Given the description of an element on the screen output the (x, y) to click on. 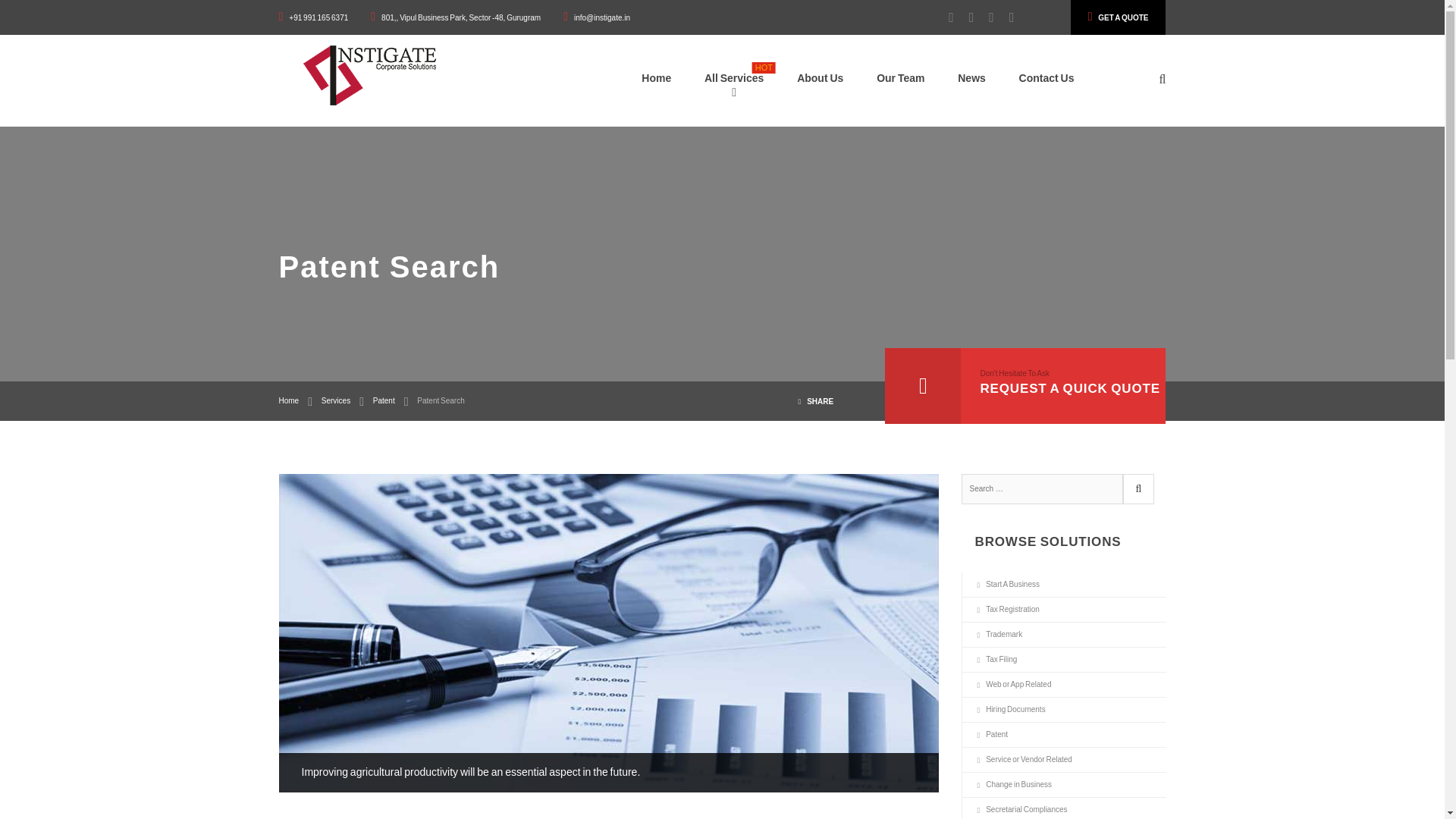
Instagram (984, 17)
Search (1138, 489)
Search (1138, 489)
GET A QUOTE (1118, 17)
Twitter (963, 17)
Vine (1004, 17)
Facebook (943, 17)
